Given the description of an element on the screen output the (x, y) to click on. 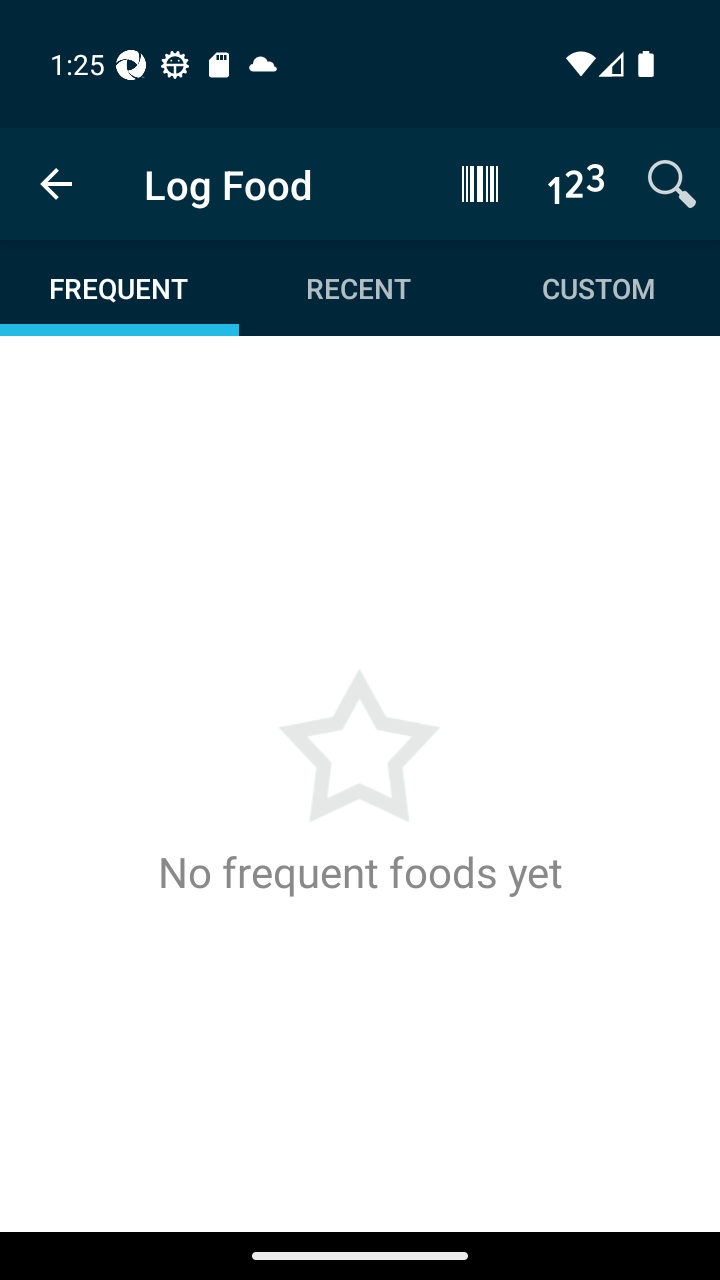
Navigate up (56, 184)
Barcode scanner (479, 183)
Add Quick Calories (575, 183)
Search database (672, 183)
FREQUENT (119, 287)
RECENT (358, 287)
CUSTOM (598, 287)
